Given the description of an element on the screen output the (x, y) to click on. 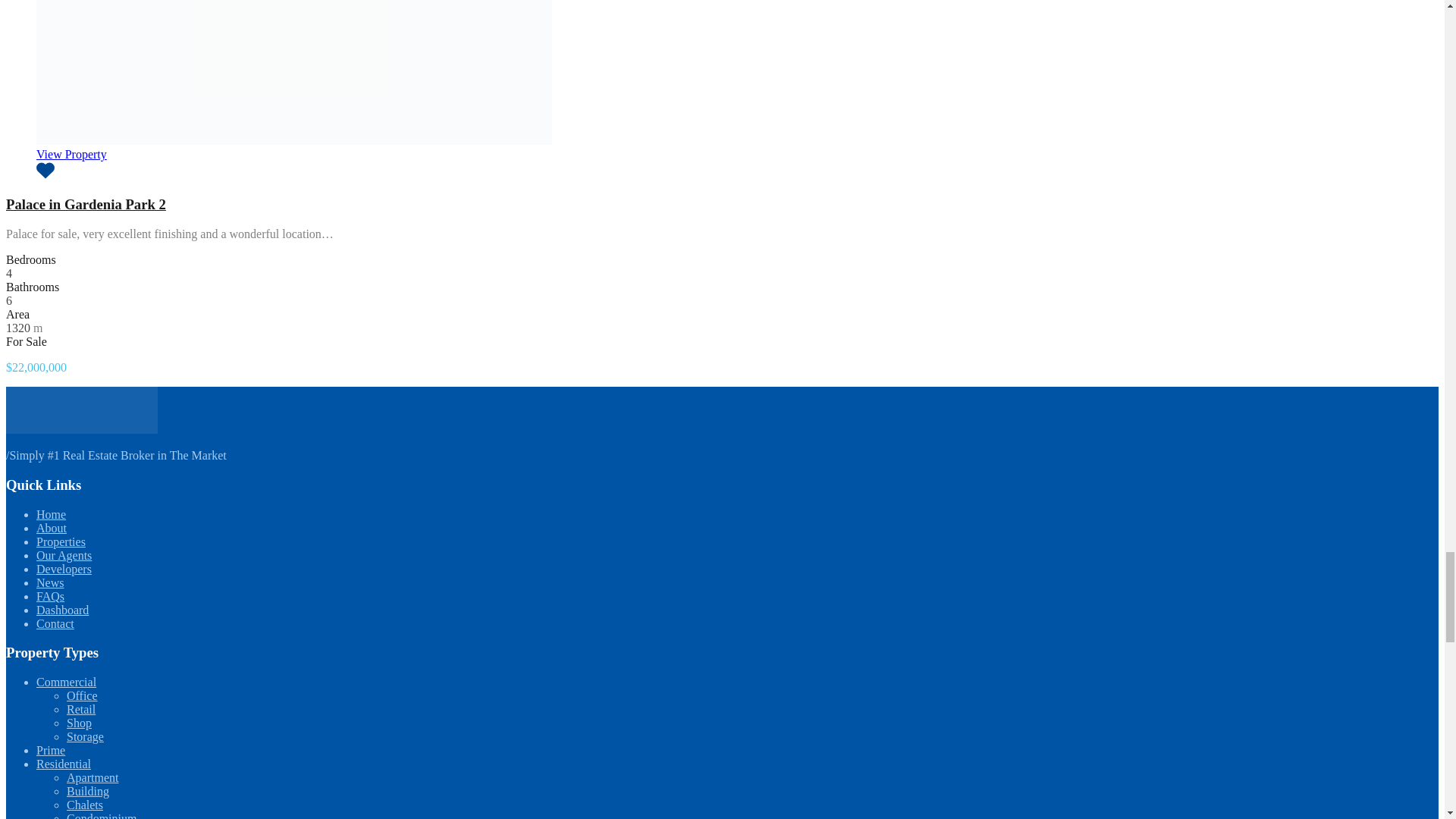
View Property (71, 154)
Palace in Gardenia Park 2 (85, 204)
Mia Casa (81, 429)
